Given the description of an element on the screen output the (x, y) to click on. 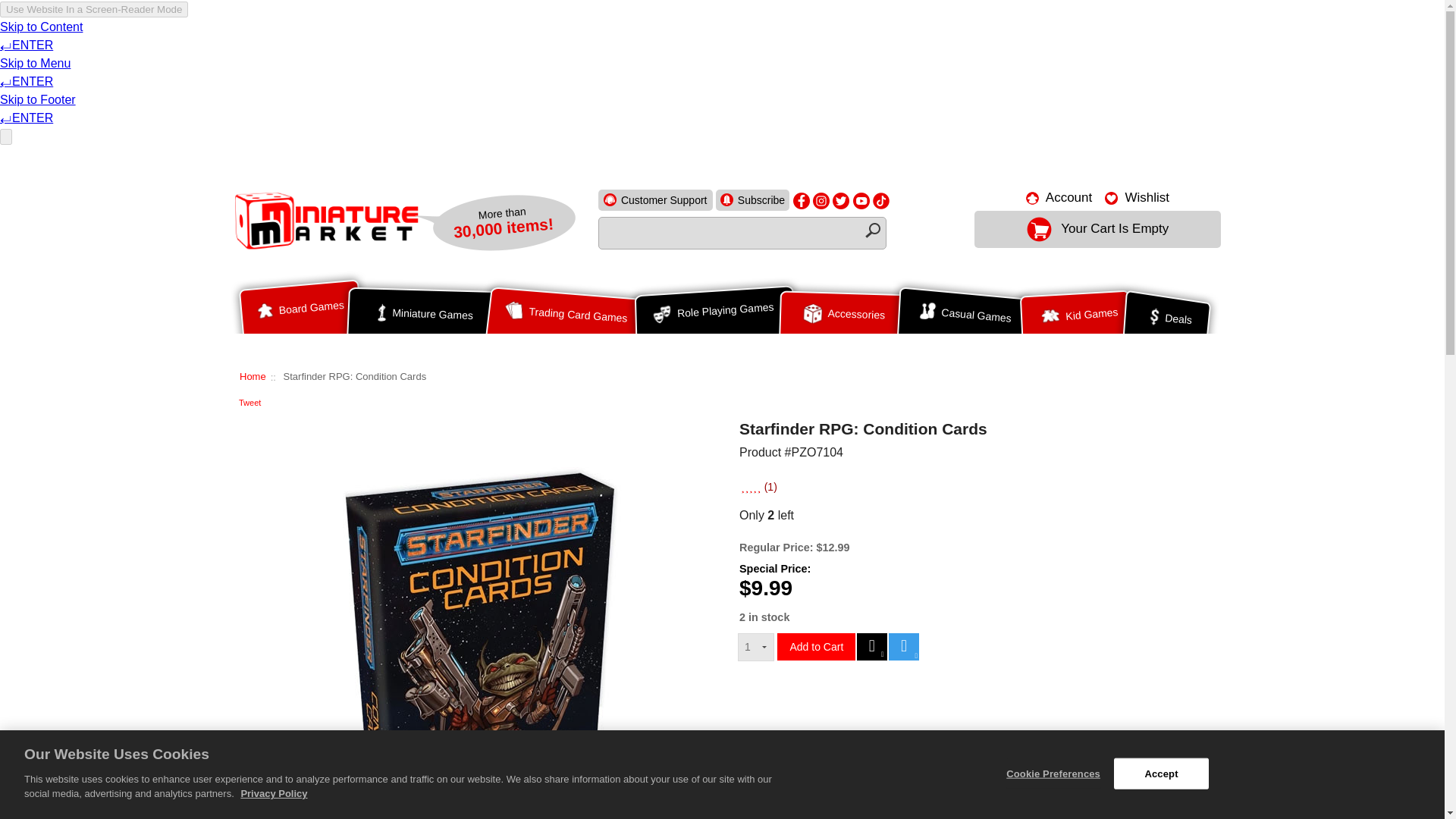
Subscribe (752, 199)
Follow us on Tiktok (880, 200)
Customer Support (655, 199)
Board Games (300, 312)
Account (1059, 197)
Miniature Market (325, 219)
Search (872, 230)
Cart (1097, 229)
Account (1059, 197)
Connect With Us On Facebook (801, 200)
Your Cart Is Empty (1097, 229)
Follow Us On Instagram (820, 200)
Follow Us On Twitter (840, 200)
Subscribe us on YouTube (861, 200)
Wishlist (1137, 197)
